Given the description of an element on the screen output the (x, y) to click on. 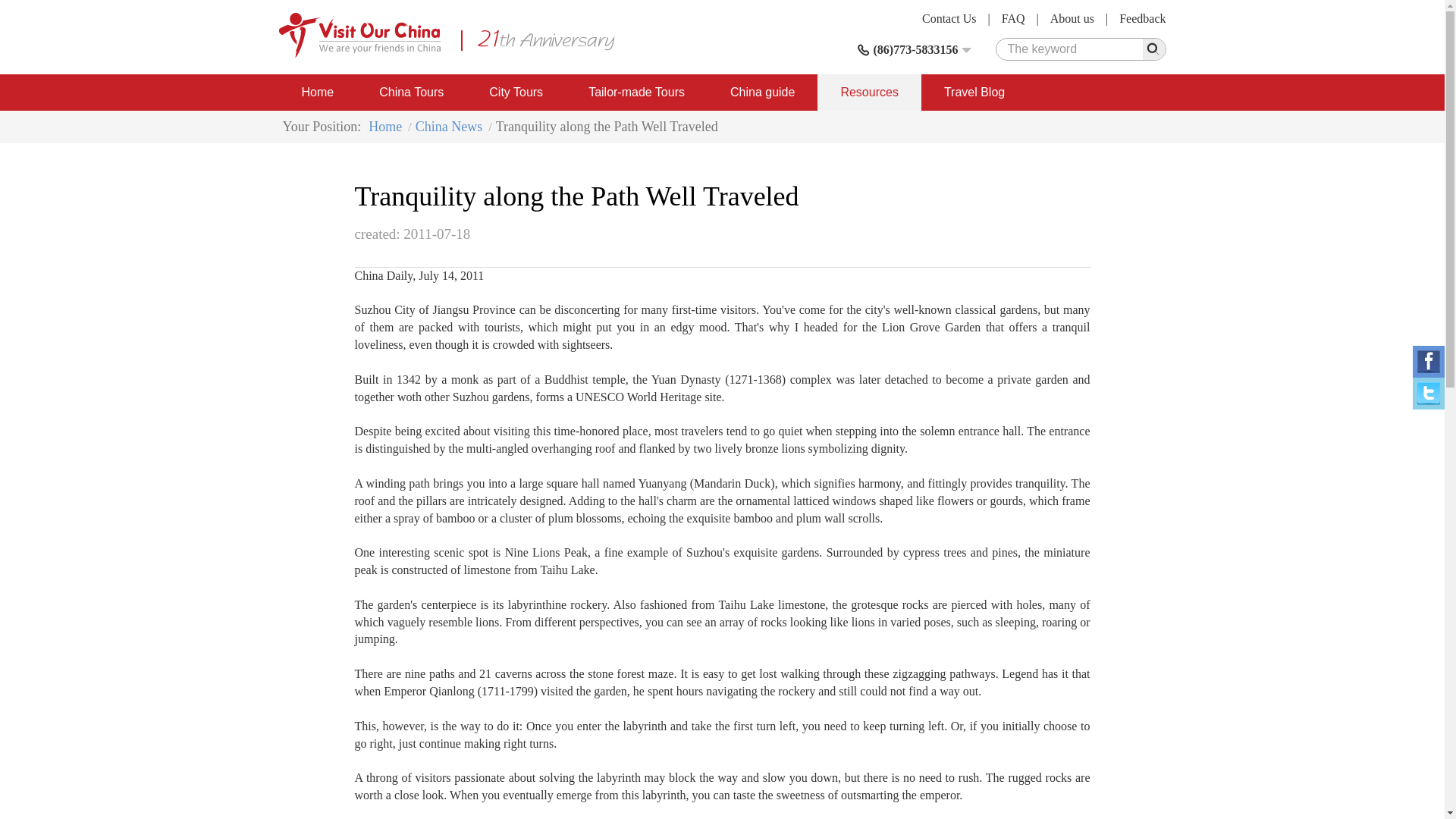
China guide (761, 92)
About us (1071, 18)
China Tours (410, 92)
Resources (868, 92)
Feedback (1142, 18)
Tailor-made Tours (636, 92)
City Tours (515, 92)
Home (317, 92)
FAQ (1013, 18)
Contact Us (948, 18)
